Given the description of an element on the screen output the (x, y) to click on. 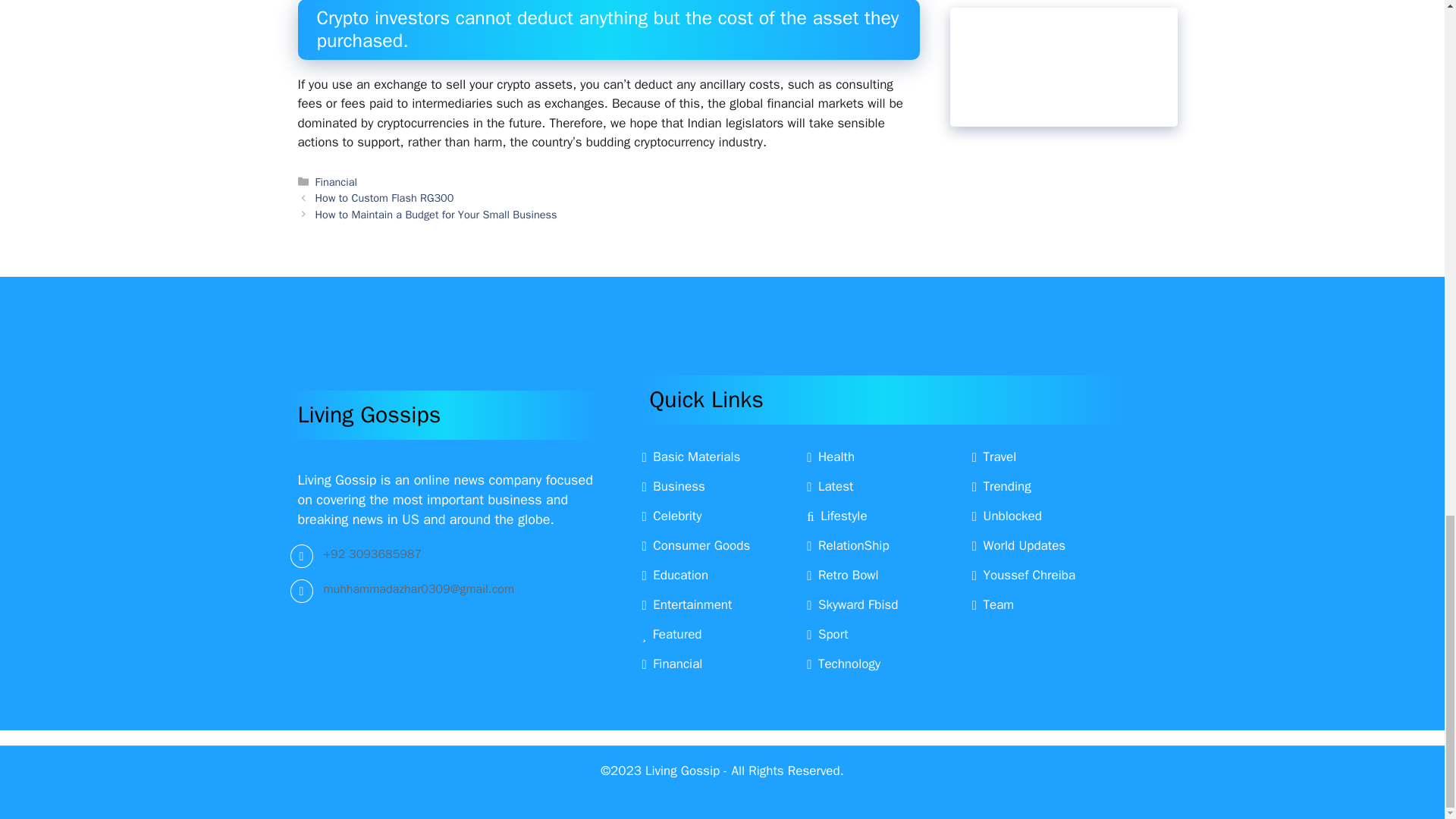
Featured (671, 634)
Business (673, 486)
Basic Materials (690, 456)
Education (674, 575)
Celebrity (671, 515)
Financial (335, 182)
How to Custom Flash RG300 (384, 197)
Entertainment (687, 604)
Scroll back to top (1406, 122)
Consumer Goods (695, 545)
How to Maintain a Budget for Your Small Business (436, 214)
